Given the description of an element on the screen output the (x, y) to click on. 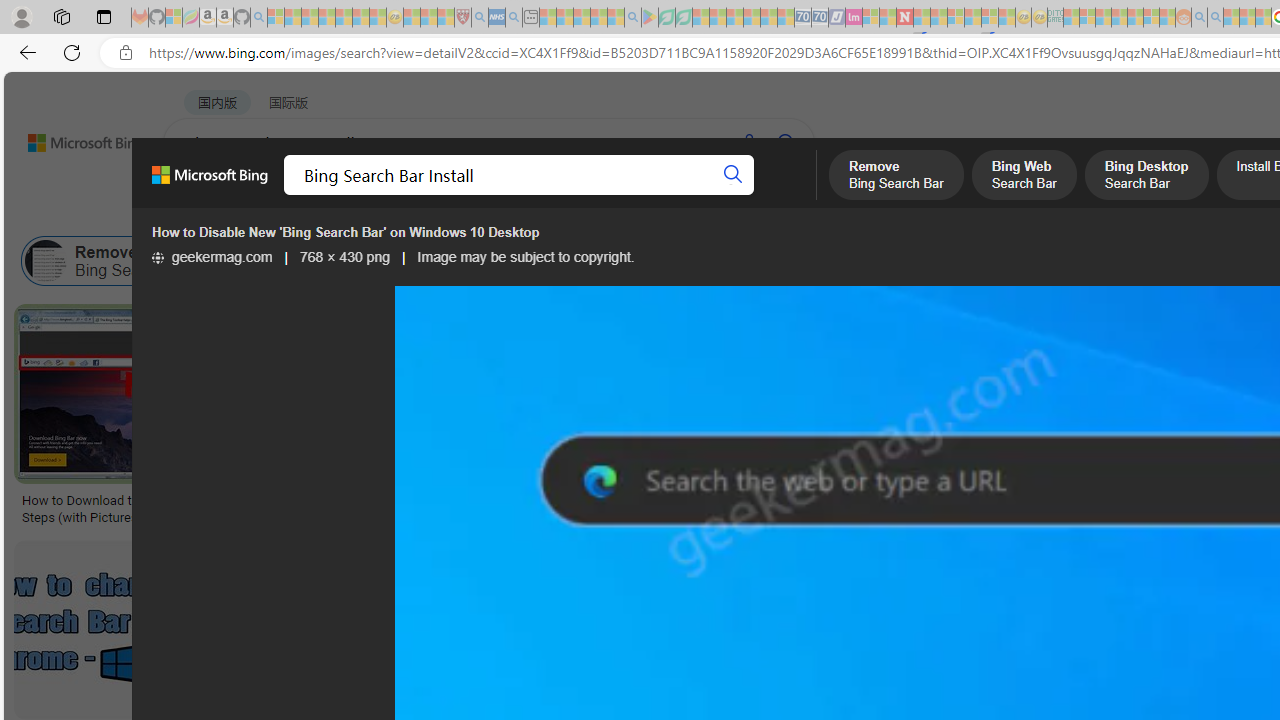
Image result for Bing Search Bar Install (792, 630)
Bing Web Search Bar (298, 260)
Install Bing Search Engine (955, 260)
Install Bing Search Engine (1033, 260)
Search using voice (748, 142)
2:44 (1007, 558)
ACADEMIC (635, 195)
